Given the description of an element on the screen output the (x, y) to click on. 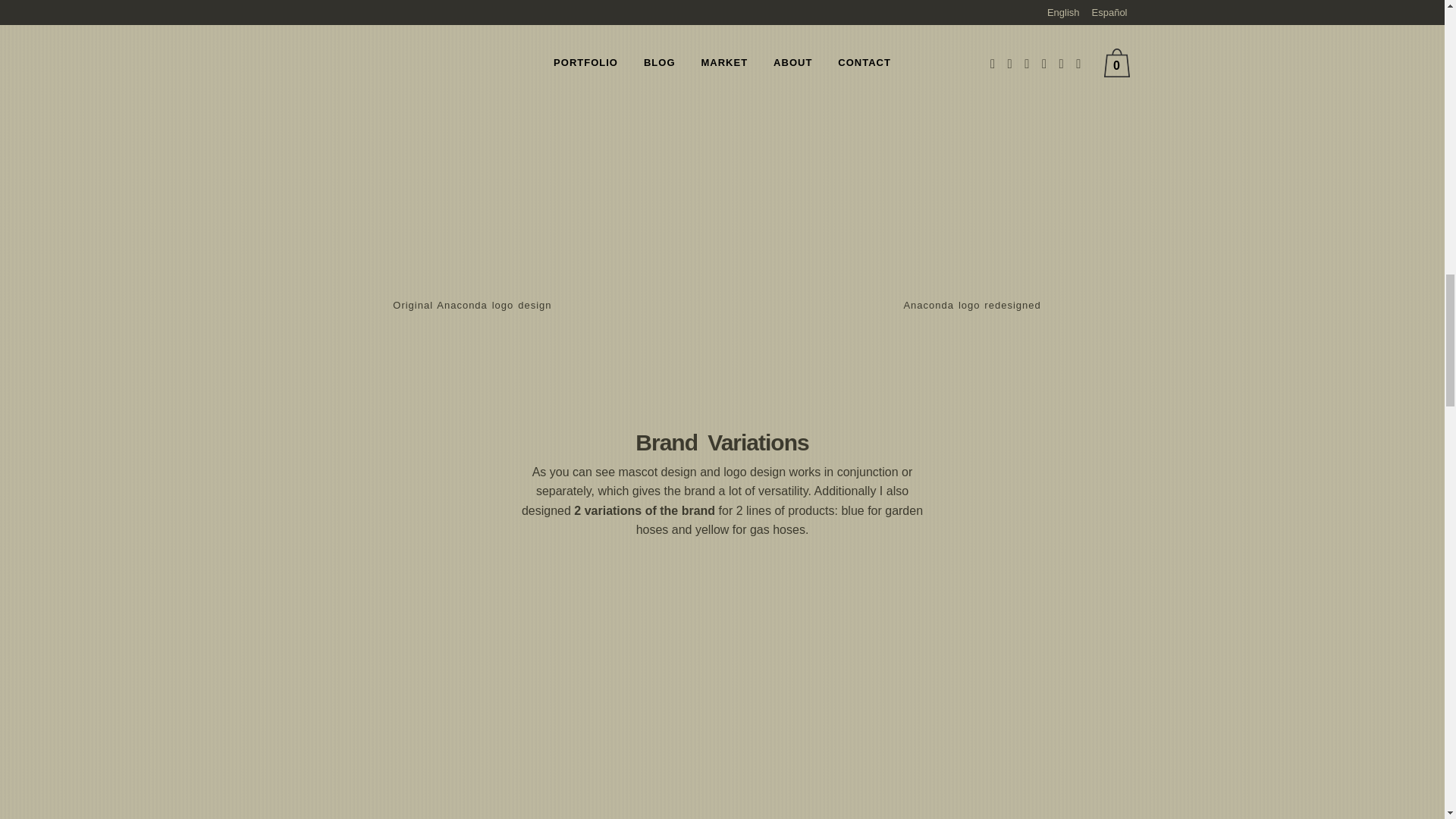
anaconda riego logo design (435, 787)
arrow-right (721, 181)
anaconda riego mascot logo design (1008, 787)
original-logo-design-1 (471, 161)
anaconda riego logo design (722, 806)
anaconda-gas-mascot (1008, 667)
anaconda-gas-illustrative (722, 667)
anaconda logo design (972, 161)
anaconda gas logo design (435, 667)
